Given the description of an element on the screen output the (x, y) to click on. 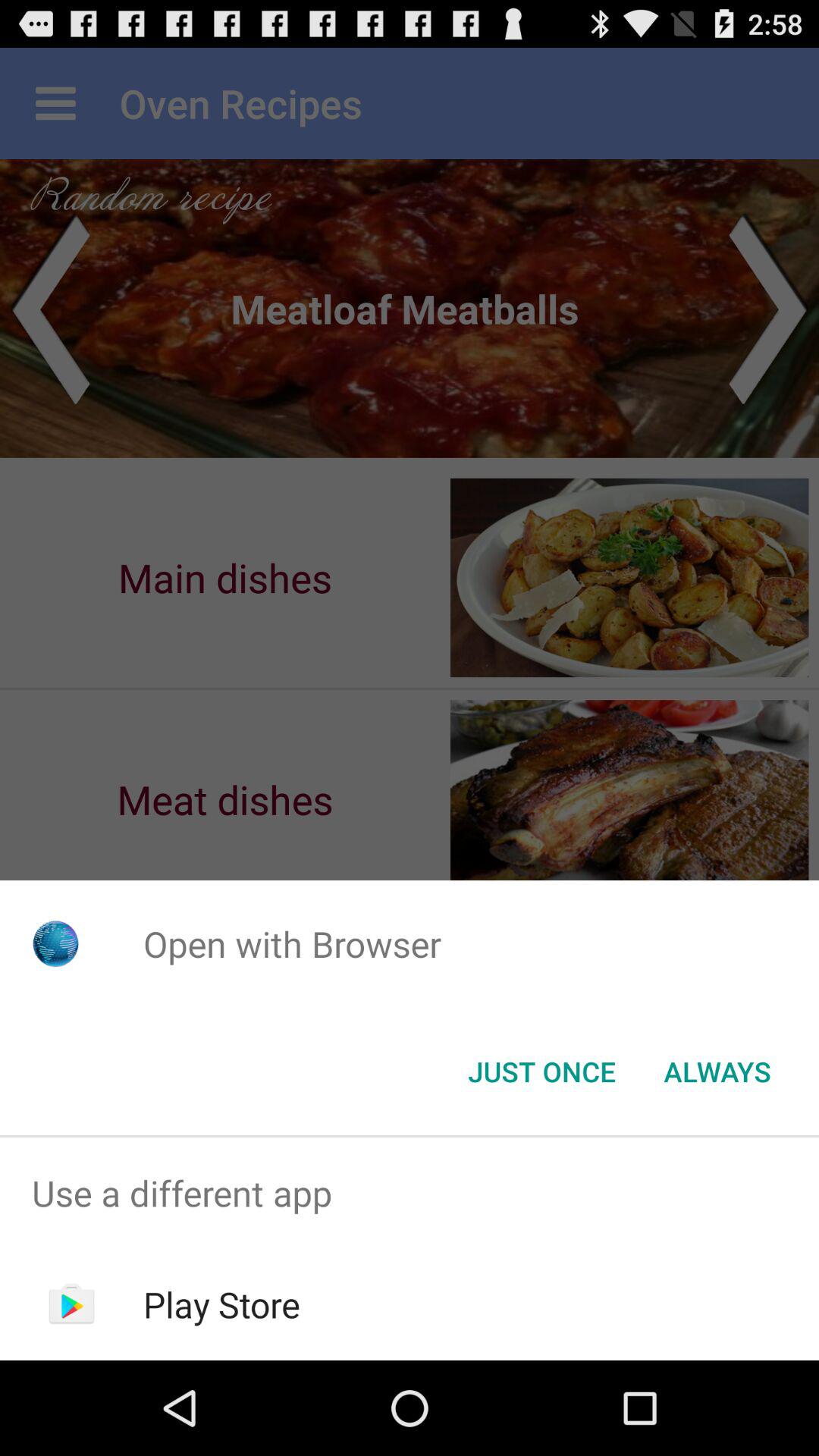
flip to always (717, 1071)
